Given the description of an element on the screen output the (x, y) to click on. 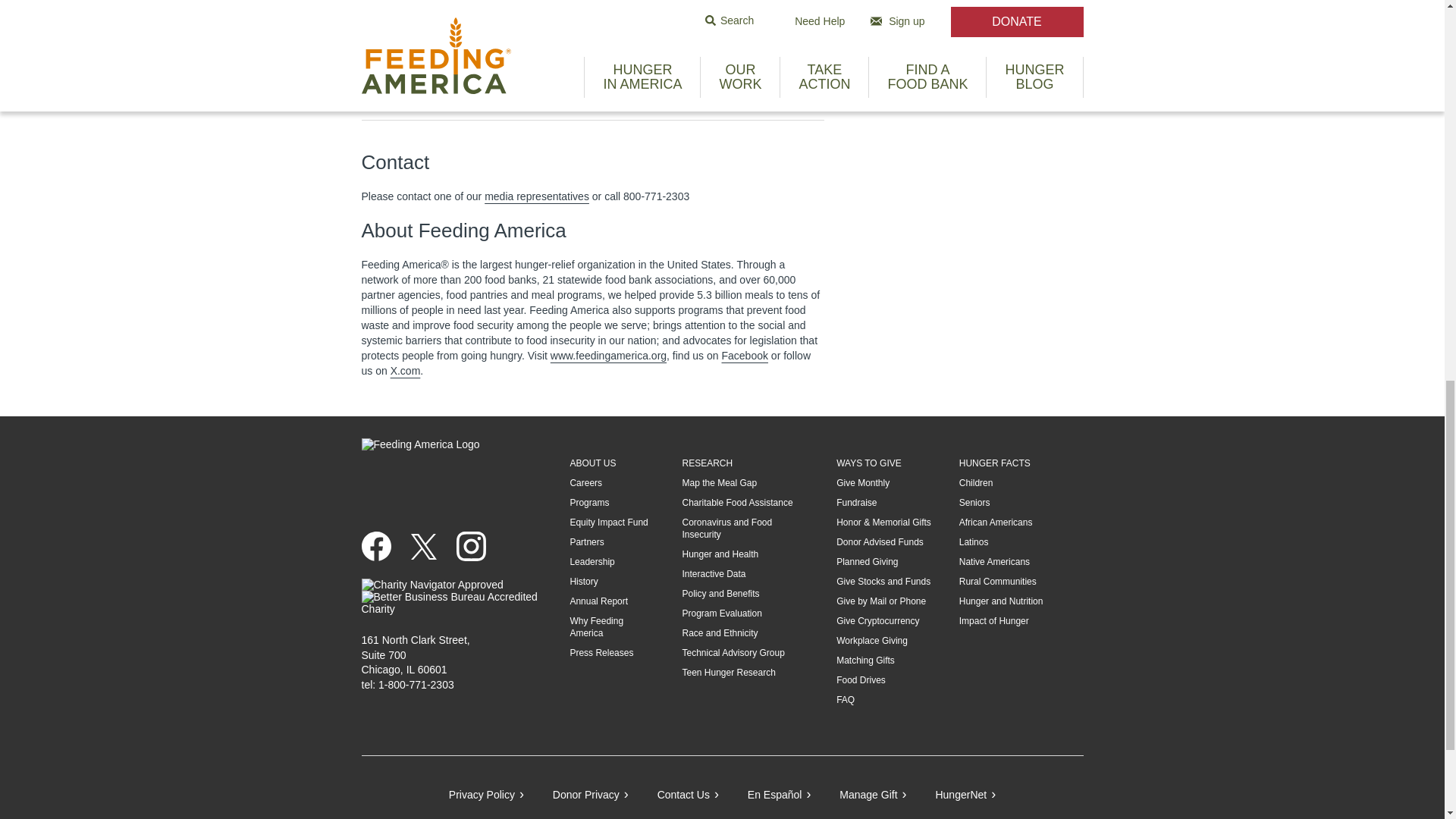
Facebook (743, 355)
media representatives (536, 196)
13 million kids may face food insecurity in 2021 (623, 13)
Visit our X.com feed (423, 546)
www.feedingamerica.org (608, 355)
X.com (405, 370)
Feeding America (608, 355)
Visit our Instagram (471, 546)
Visit our Facebook page (375, 546)
